Given the description of an element on the screen output the (x, y) to click on. 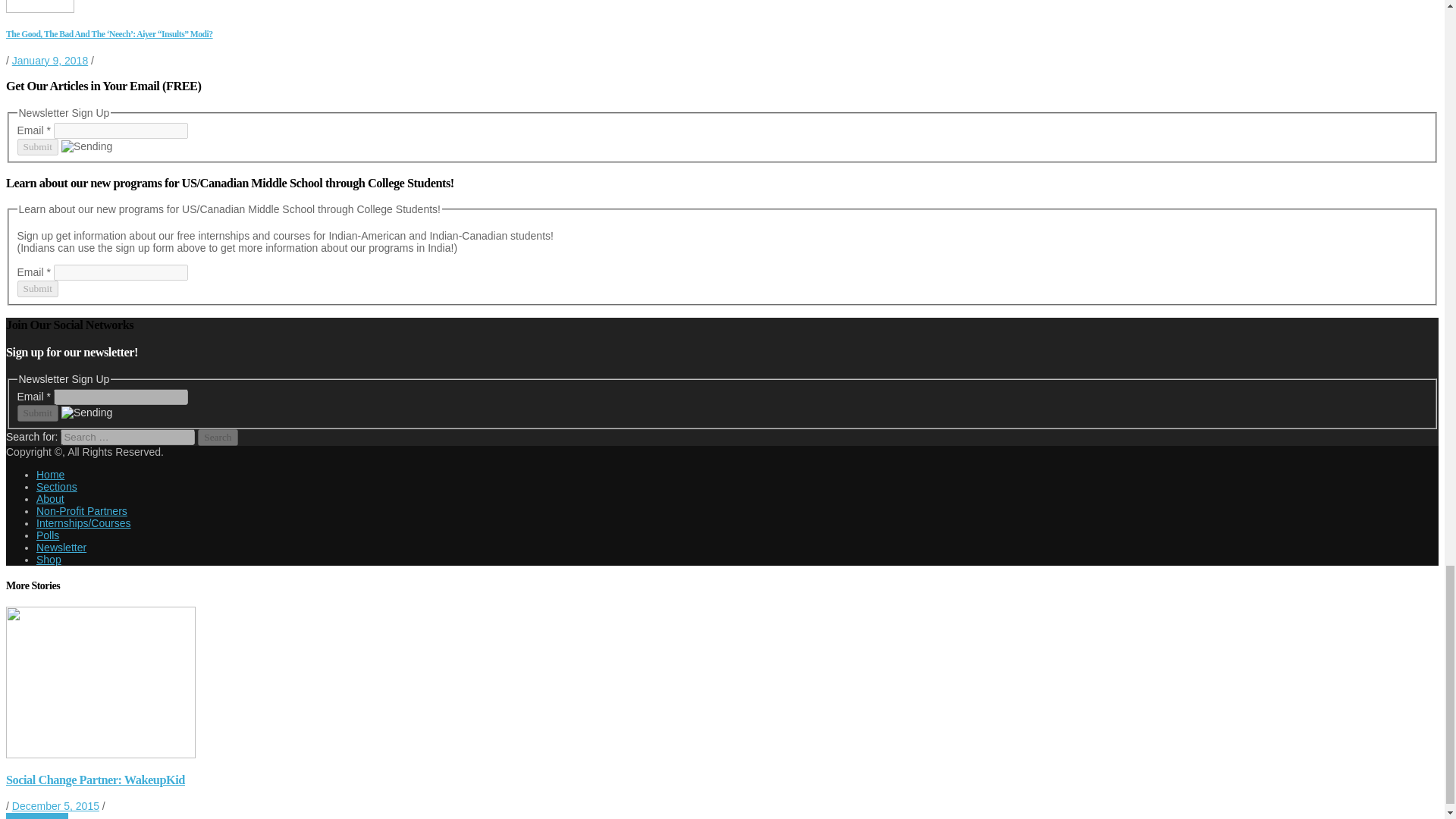
Search (217, 437)
Search (217, 437)
Submit (37, 146)
Submit (37, 412)
